Given the description of an element on the screen output the (x, y) to click on. 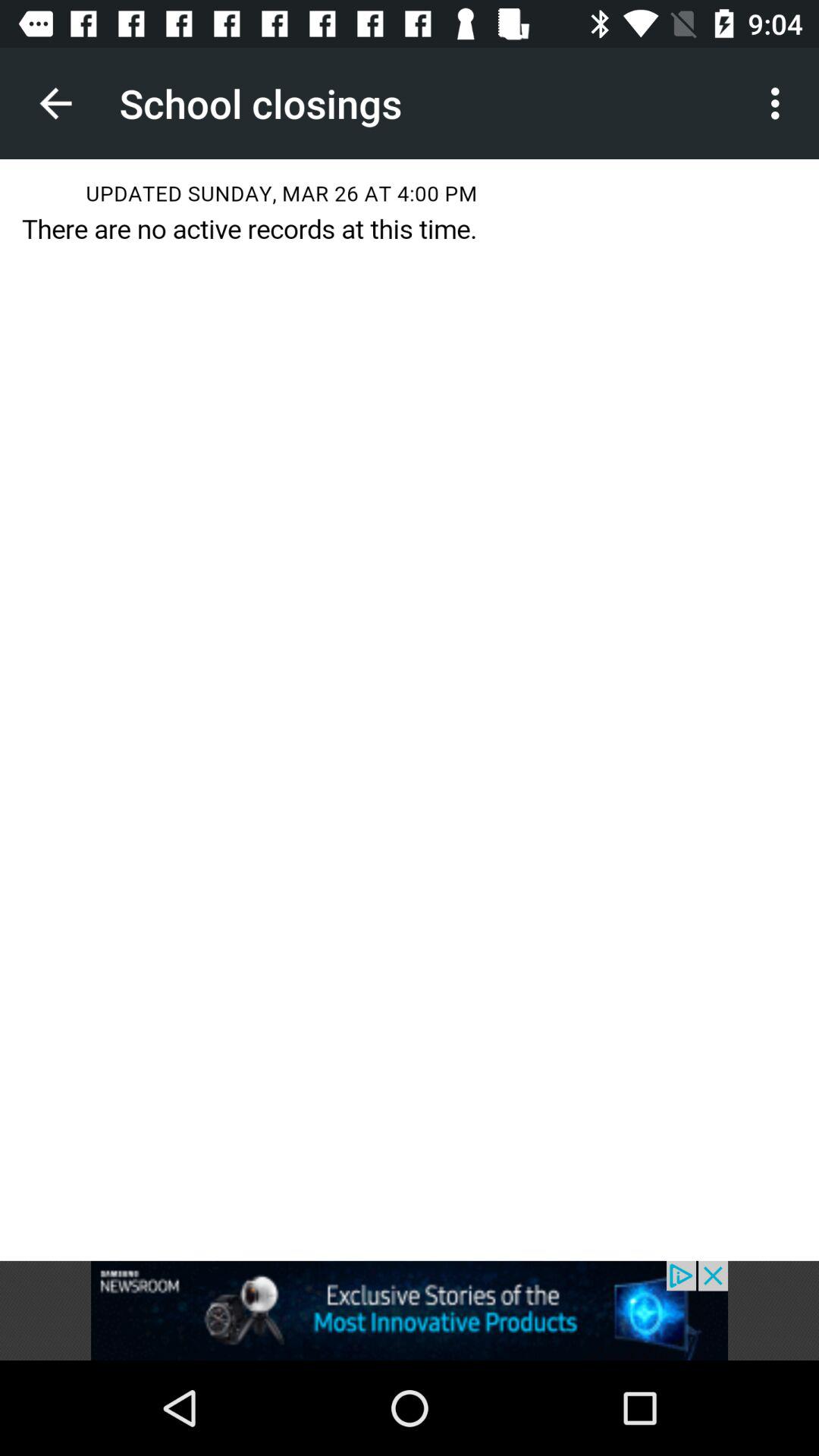
open advertisement (409, 1310)
